Given the description of an element on the screen output the (x, y) to click on. 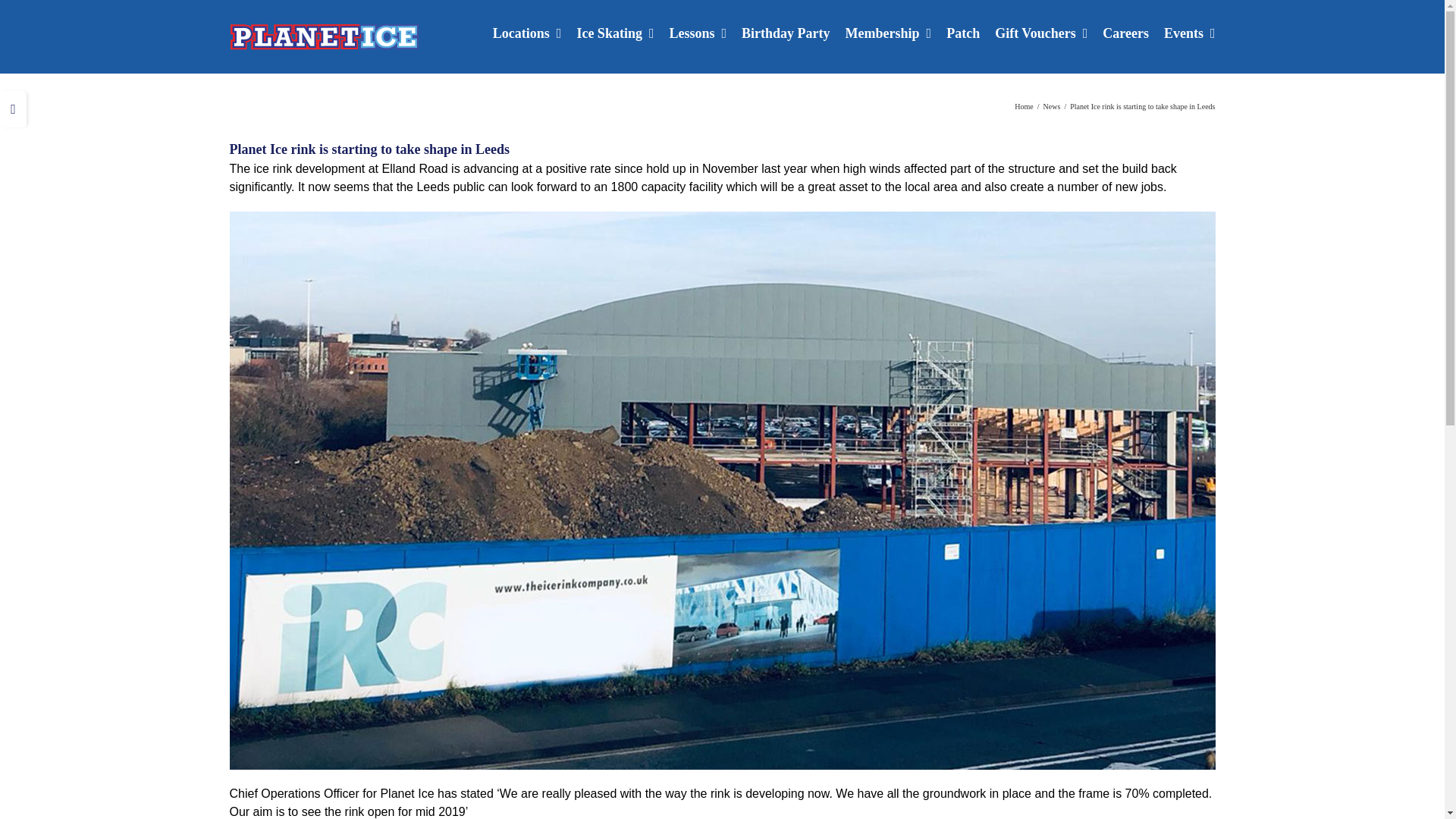
Locations (527, 31)
Ice Skating (614, 31)
Membership (888, 31)
Gift Vouchers (1040, 31)
Lessons (697, 31)
Birthday Party (785, 31)
